Given the description of an element on the screen output the (x, y) to click on. 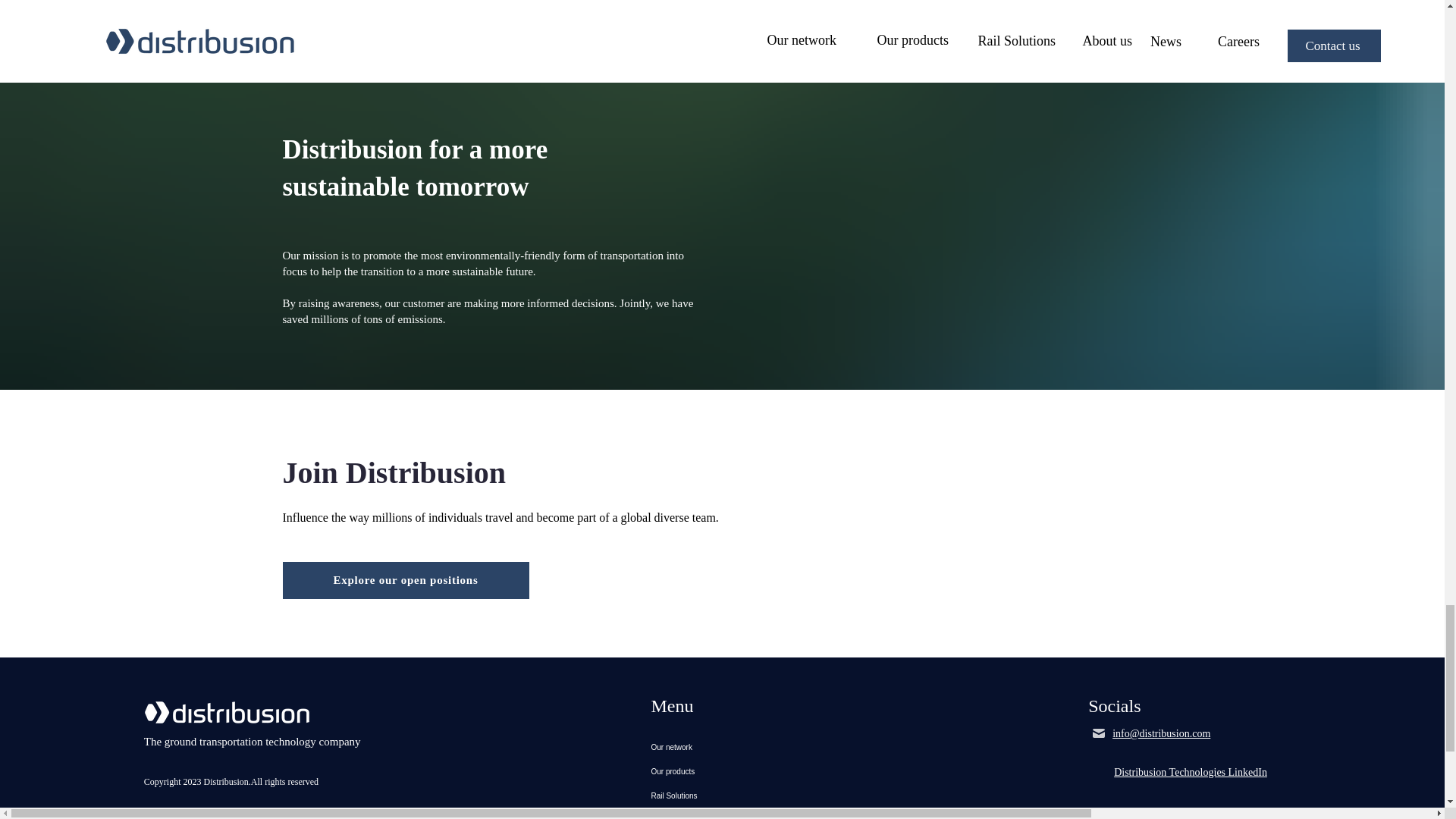
Distribusion Technologies LinkedIn (1189, 772)
Our products (721, 771)
Rail Solutions (721, 795)
Explore our open positions (405, 579)
About us (721, 813)
Our network (721, 747)
